Given the description of an element on the screen output the (x, y) to click on. 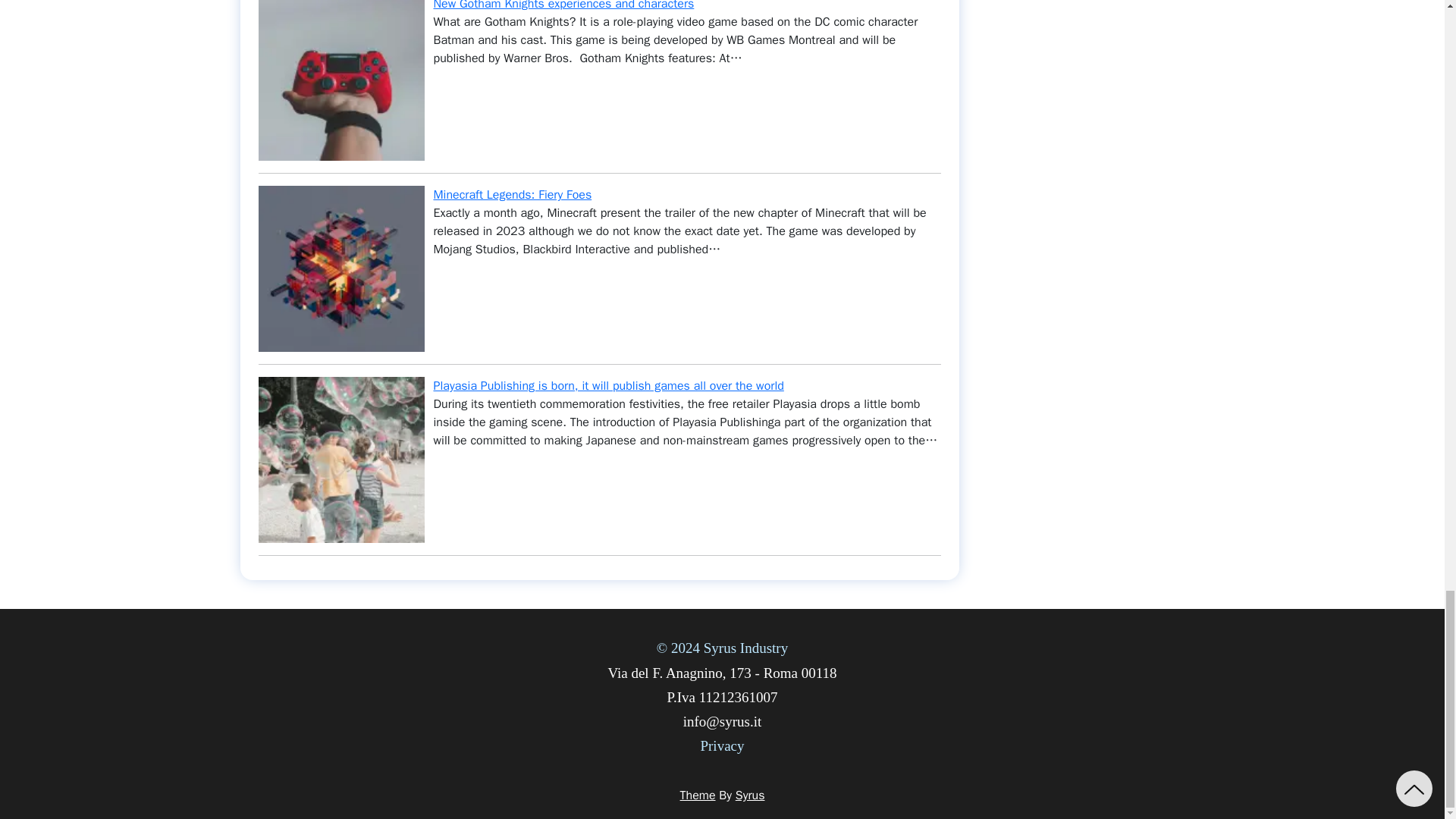
New Gotham Knights experiences and characters (563, 5)
Theme (697, 795)
Minecraft Legends: Fiery Foes (512, 194)
Minecraft Legends: Fiery Foes (512, 194)
Syrus (750, 795)
New Gotham Knights experiences and characters (563, 5)
Privacy (722, 745)
